Given the description of an element on the screen output the (x, y) to click on. 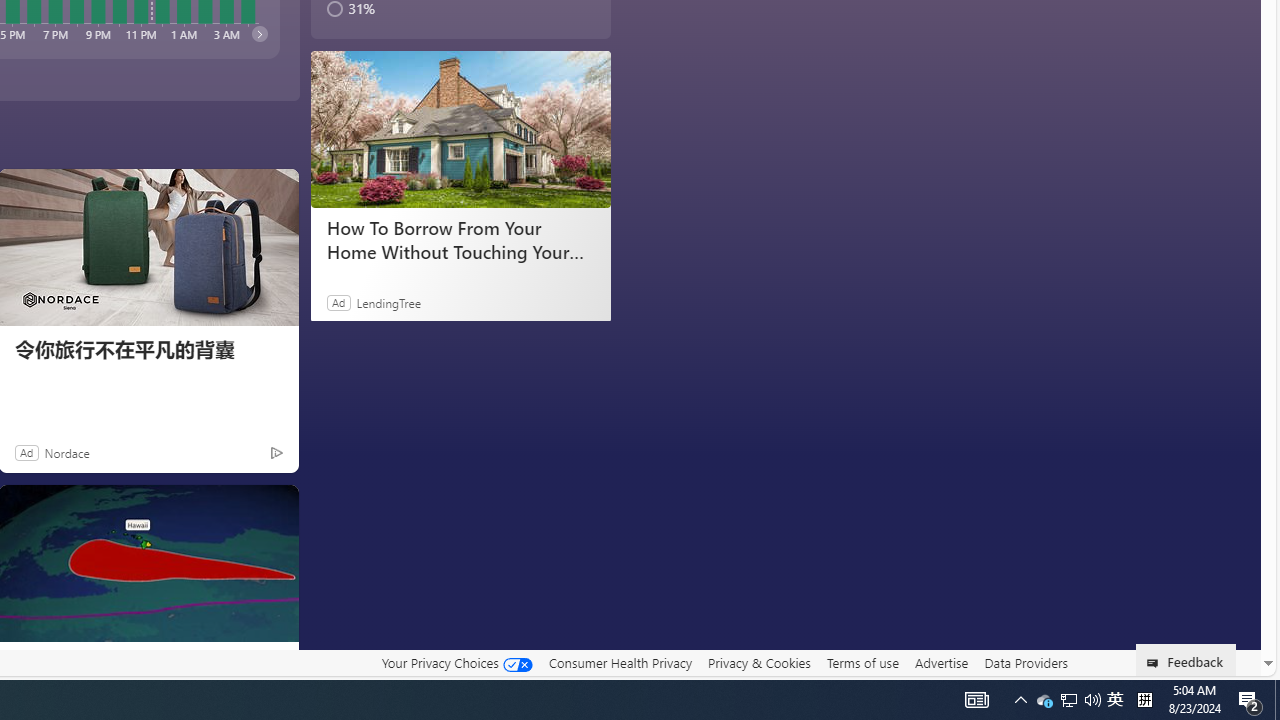
Class: feedback_link_icon-DS-EntryPoint1-1 (1156, 663)
Feedback (1186, 659)
How To Borrow From Your Home Without Touching Your Mortgage (460, 240)
Ad (26, 452)
Your Privacy Choices (456, 663)
Consumer Health Privacy (619, 662)
Advertise (940, 662)
Privacy & Cookies (759, 663)
Advertise (940, 663)
